Given the description of an element on the screen output the (x, y) to click on. 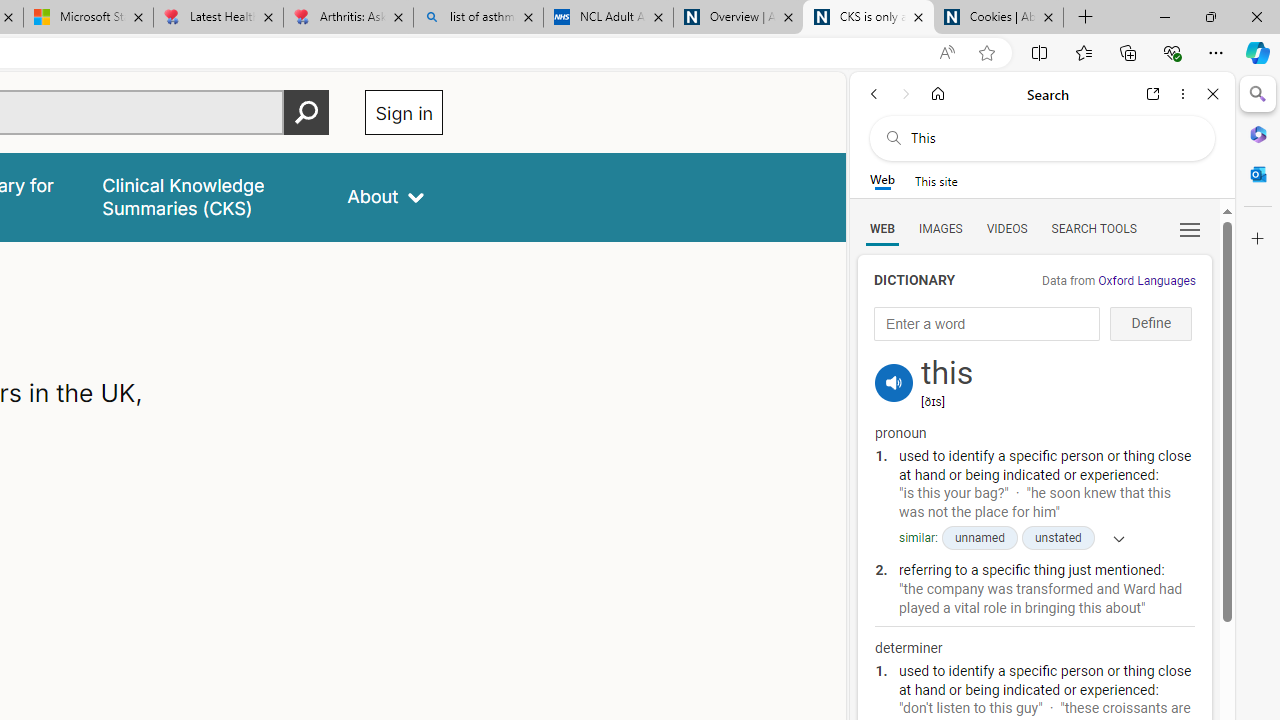
Copilot (Ctrl+Shift+.) (1258, 52)
Minimize (1164, 16)
Define (1150, 323)
This site scope (936, 180)
CKS is only available in the UK | NICE (868, 17)
Oxford Languages (1146, 281)
pronounce (893, 382)
Home (938, 93)
Show more (1112, 538)
About (386, 196)
Link for logging (893, 359)
Preferences (1189, 228)
